Given the description of an element on the screen output the (x, y) to click on. 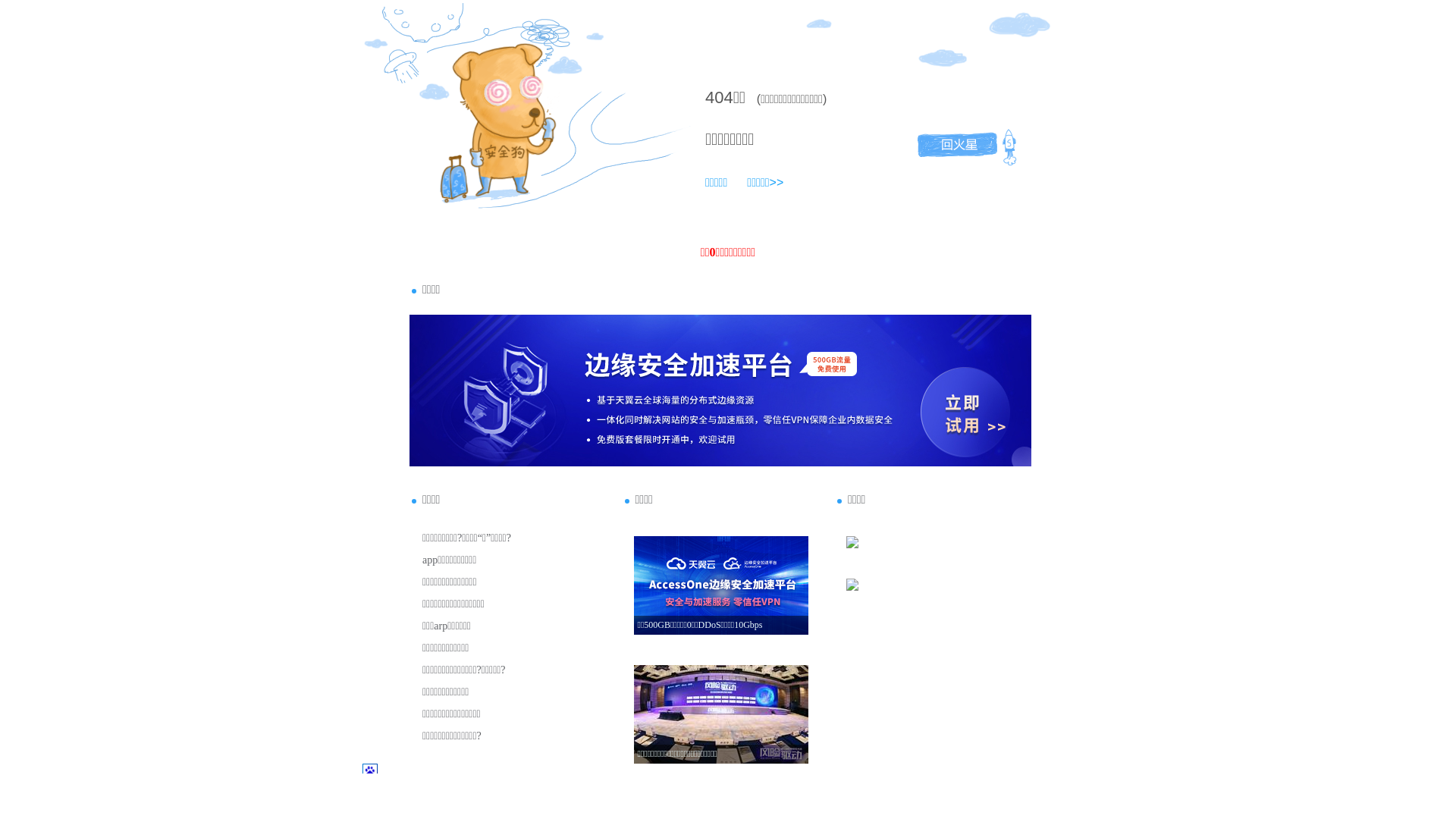
404 Element type: text (719, 96)
